Given the description of an element on the screen output the (x, y) to click on. 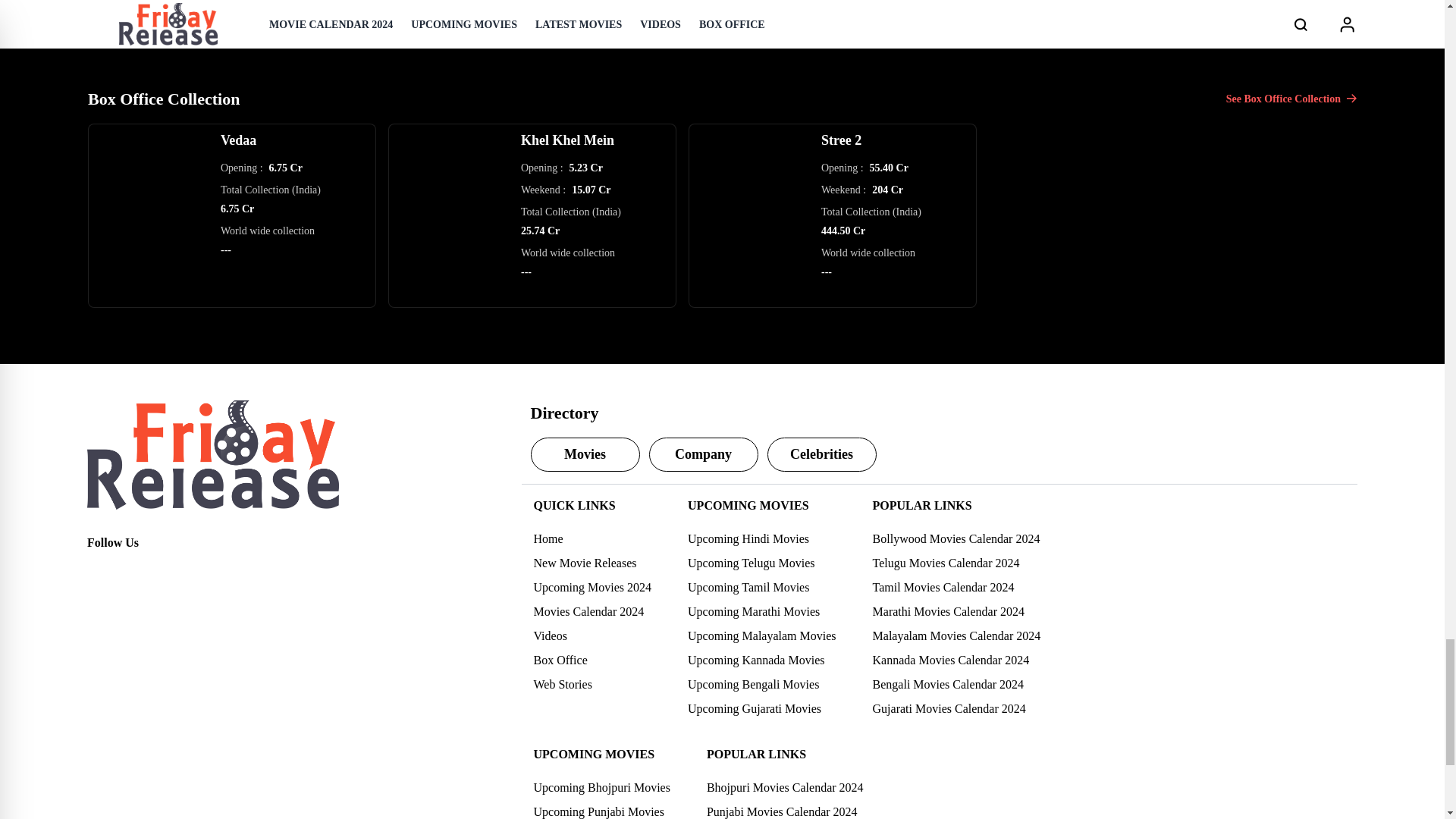
Instagram Page (165, 569)
Youtube Page (199, 569)
Twitter Page (132, 569)
Facebook Page (99, 569)
